Given the description of an element on the screen output the (x, y) to click on. 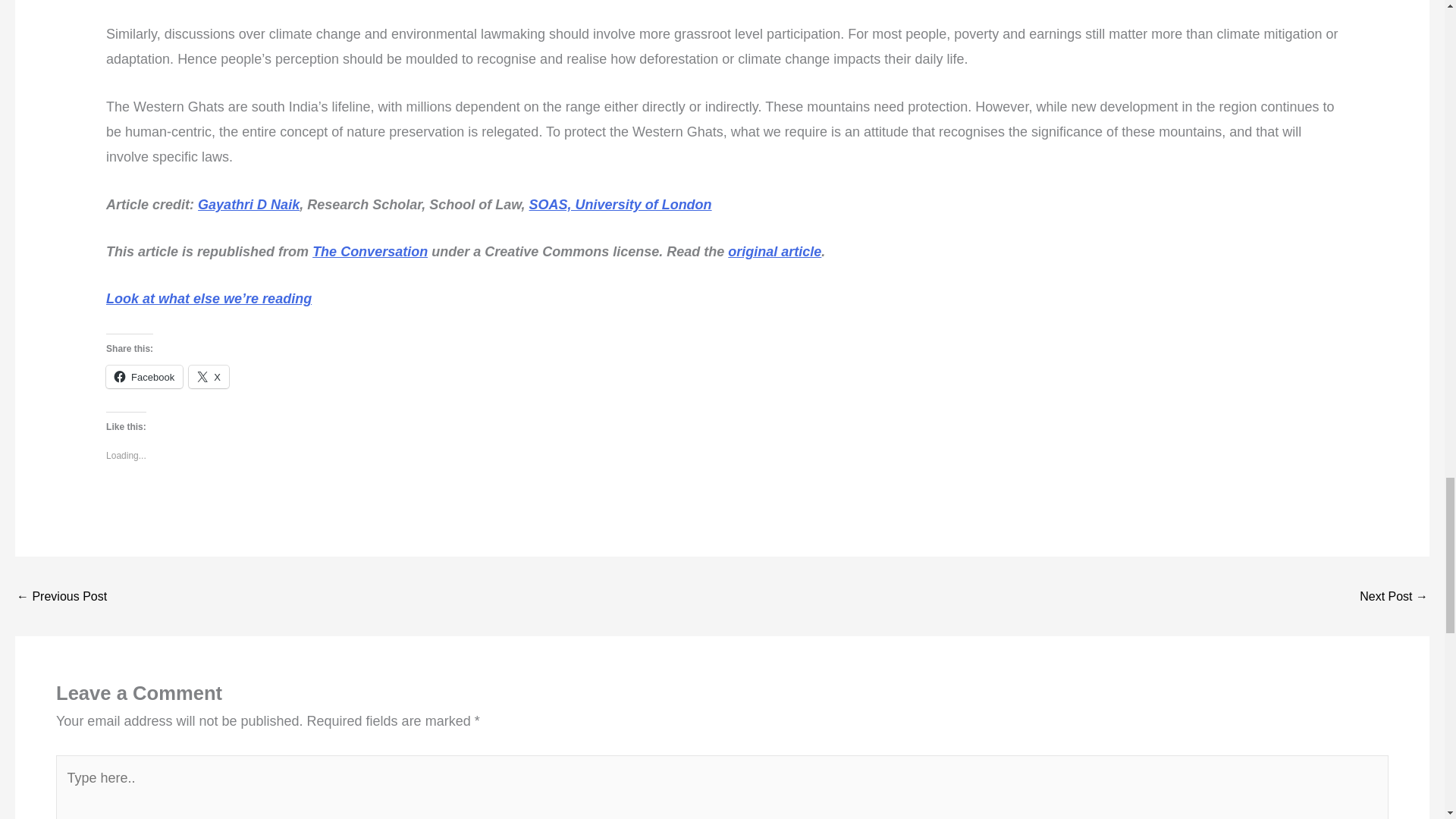
Click to share on Facebook (144, 376)
Implement Ayushman Bharat in Delhi: BJP to AAP government (61, 596)
WHO urges action on health effects of climate change (1393, 596)
Click to share on X (208, 376)
